Given the description of an element on the screen output the (x, y) to click on. 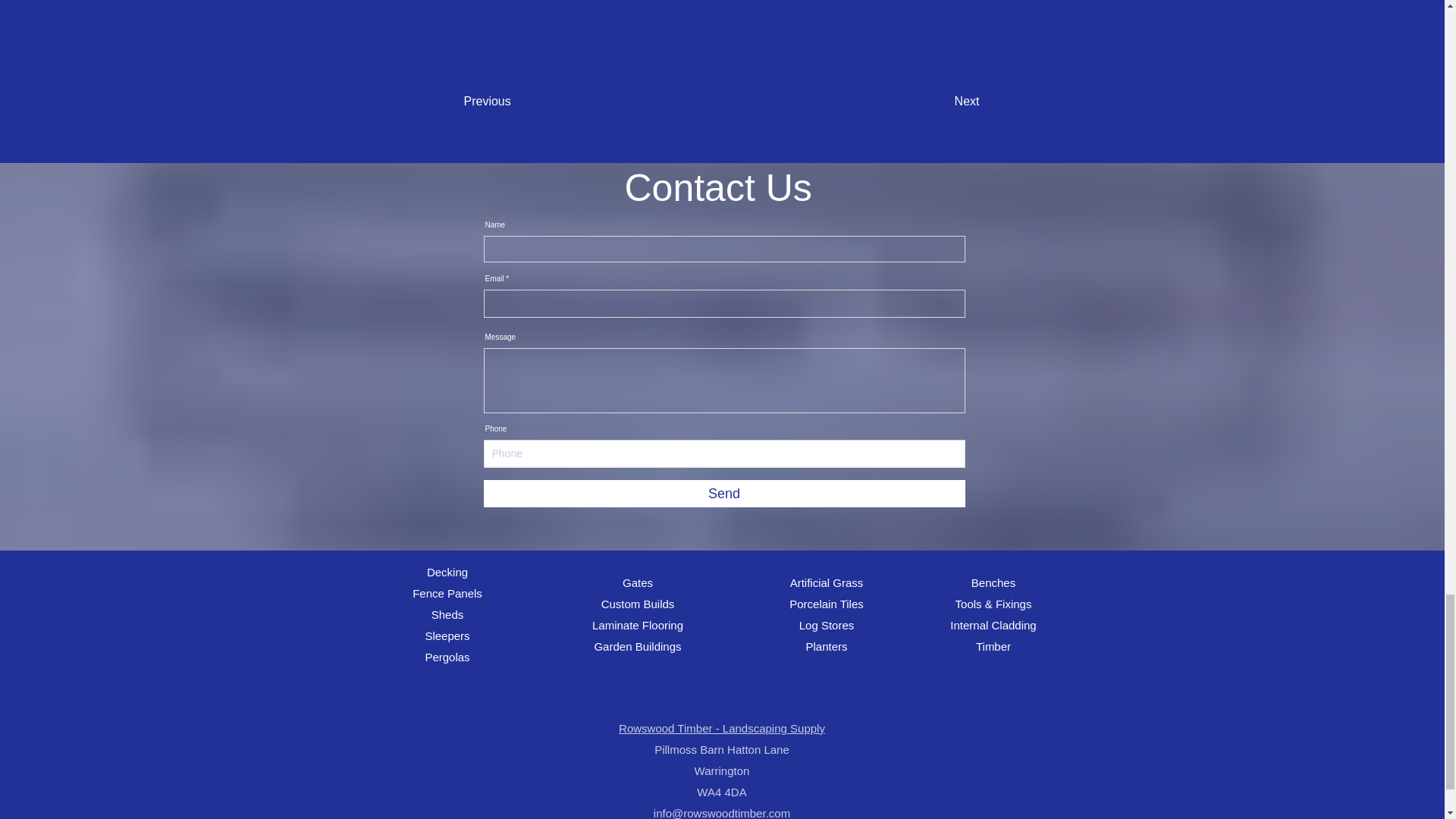
Next (941, 101)
Send (724, 492)
Sleepers (446, 635)
Previous (513, 101)
Gates (637, 582)
Fence Panels (446, 593)
Decking (446, 571)
Pergolas (446, 656)
Sheds (447, 614)
